Given the description of an element on the screen output the (x, y) to click on. 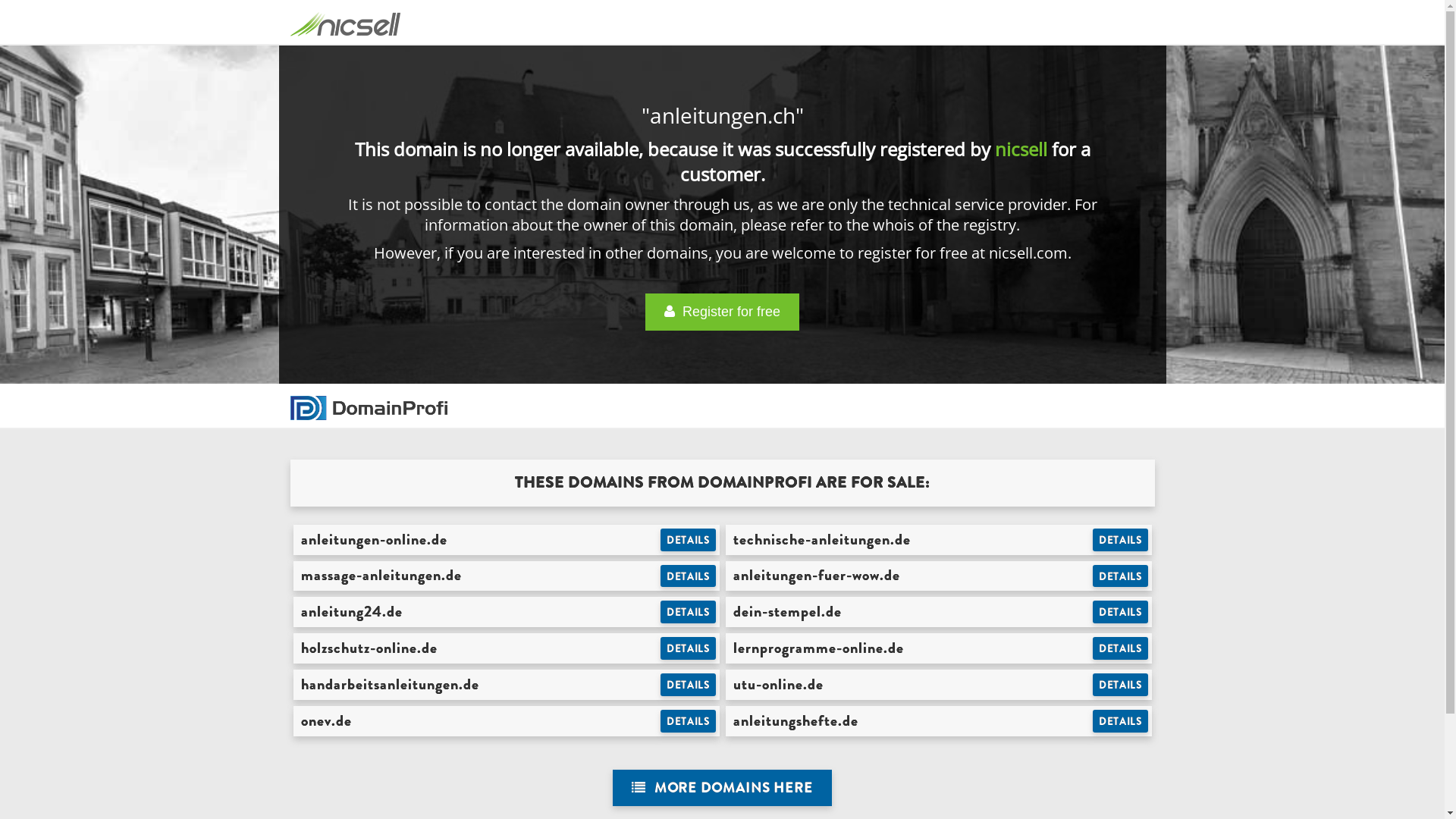
DETAILS Element type: text (1120, 575)
DETAILS Element type: text (687, 575)
nicsell Element type: text (1020, 148)
  Register for free Element type: text (722, 311)
DETAILS Element type: text (1120, 611)
DETAILS Element type: text (1120, 684)
DETAILS Element type: text (687, 539)
DETAILS Element type: text (1120, 539)
DETAILS Element type: text (687, 648)
DETAILS Element type: text (687, 684)
DETAILS Element type: text (687, 720)
DETAILS Element type: text (687, 611)
  MORE DOMAINS HERE Element type: text (721, 787)
DETAILS Element type: text (1120, 648)
DETAILS Element type: text (1120, 720)
